Given the description of an element on the screen output the (x, y) to click on. 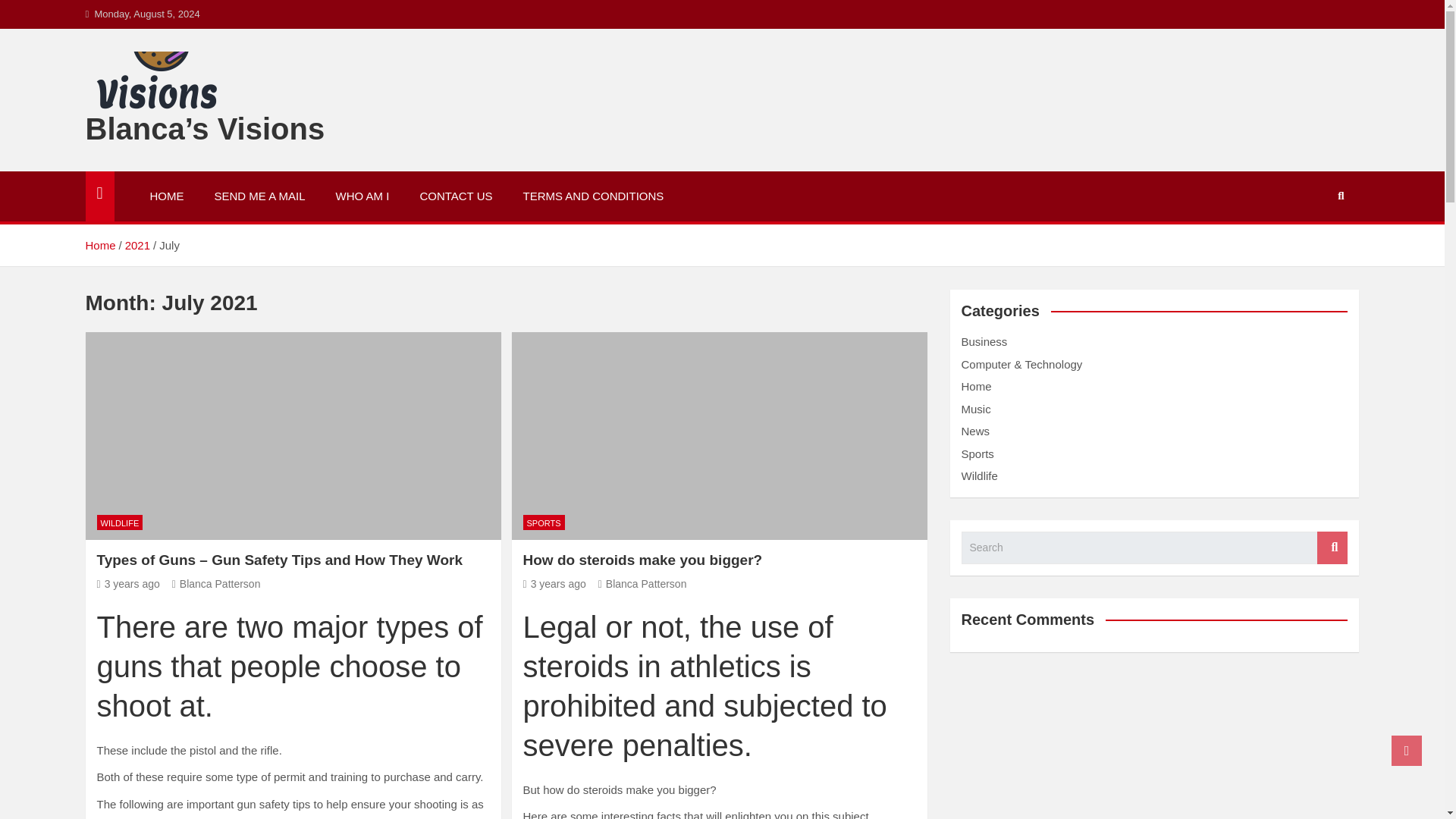
Sports (977, 453)
TERMS AND CONDITIONS (593, 196)
WILDLIFE (119, 522)
SEND ME A MAIL (259, 196)
SPORTS (543, 522)
How do steroids make you bigger? (554, 583)
Business (983, 341)
Go to Top (1406, 750)
Music (975, 408)
Search (1332, 547)
Wildlife (978, 475)
Home (99, 245)
3 years ago (554, 583)
CONTACT US (455, 196)
2021 (137, 245)
